Given the description of an element on the screen output the (x, y) to click on. 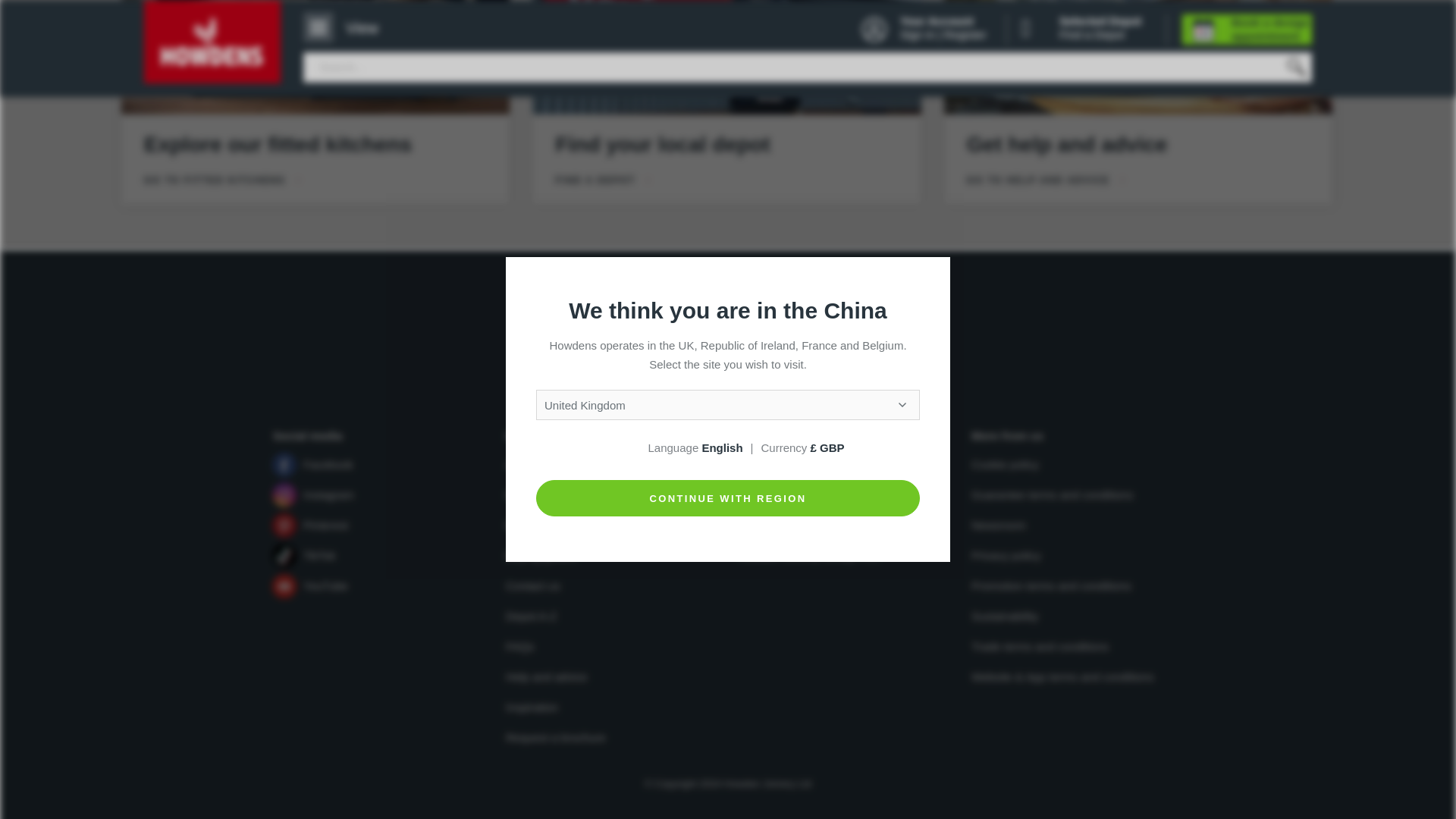
Go to fitted kitchens (314, 57)
Find a depot (726, 57)
Go to help and advice (1137, 57)
